Given the description of an element on the screen output the (x, y) to click on. 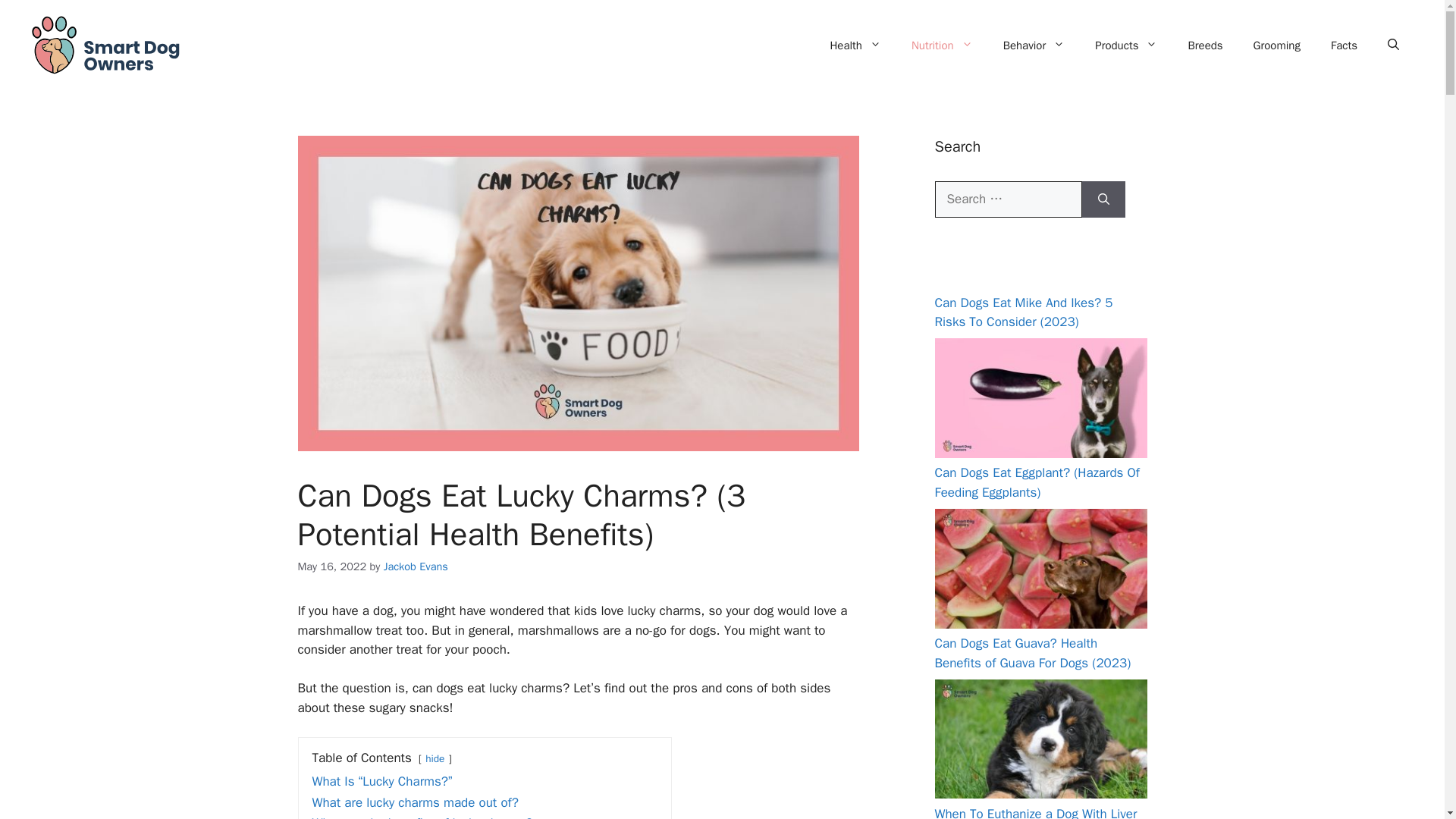
Nutrition (942, 44)
Health (854, 44)
Behavior (1034, 44)
Breeds (1204, 44)
Products (1126, 44)
View all posts by Jackob Evans (416, 566)
Grooming (1277, 44)
Search for: (1007, 198)
